Given the description of an element on the screen output the (x, y) to click on. 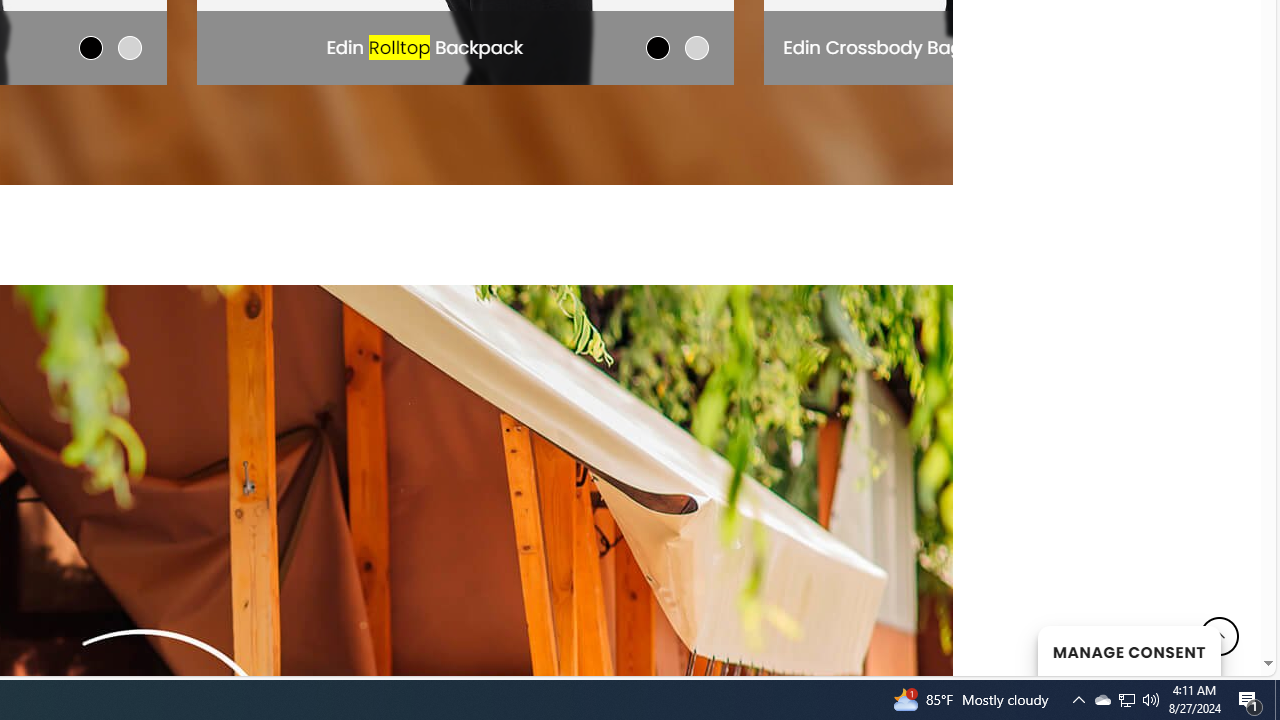
MANAGE CONSENT (1128, 650)
